Given the description of an element on the screen output the (x, y) to click on. 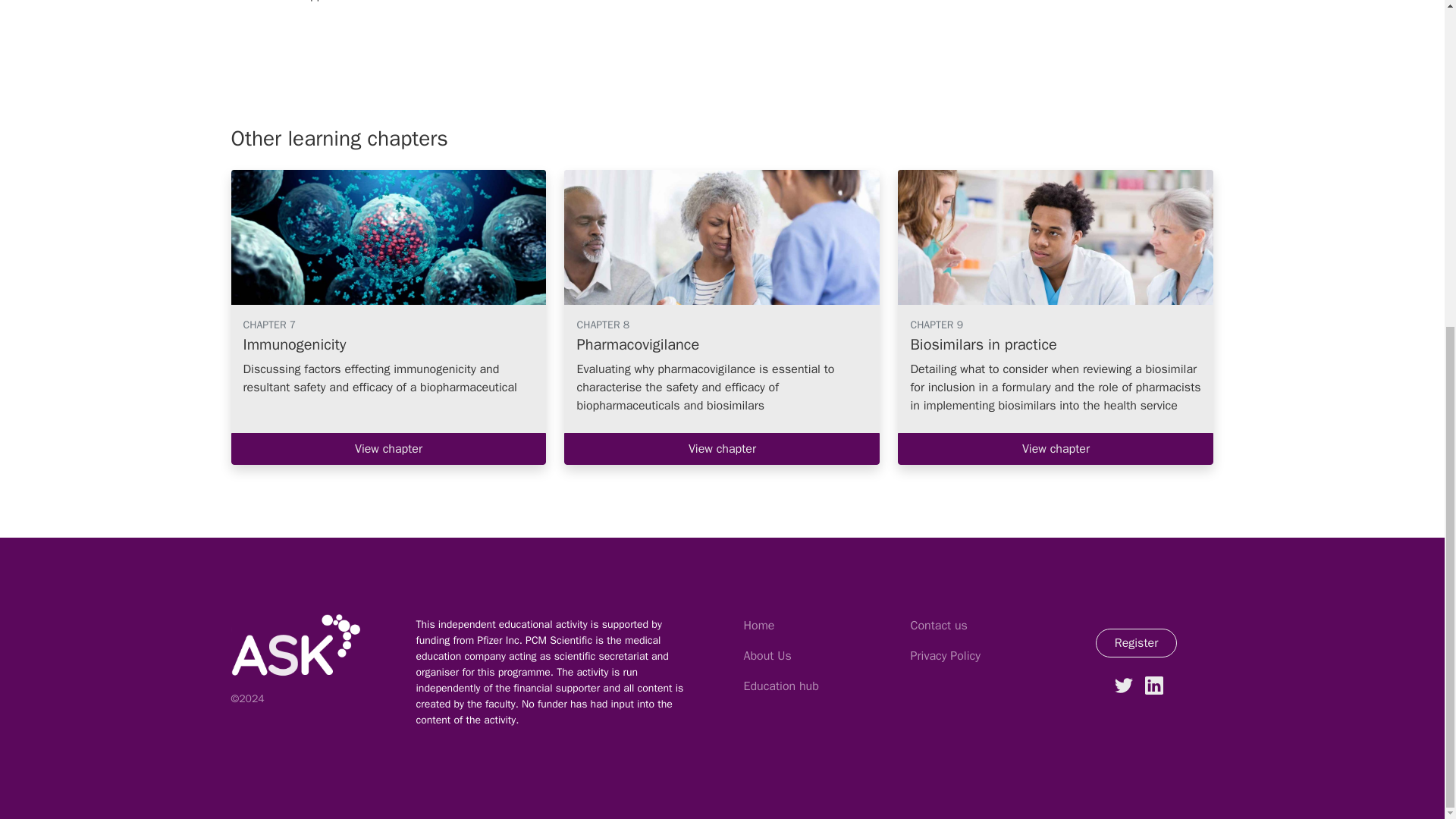
View chapter (721, 449)
Twitter (1123, 685)
LinkedIn (1153, 685)
View chapter (1055, 449)
View chapter (388, 449)
